Given the description of an element on the screen output the (x, y) to click on. 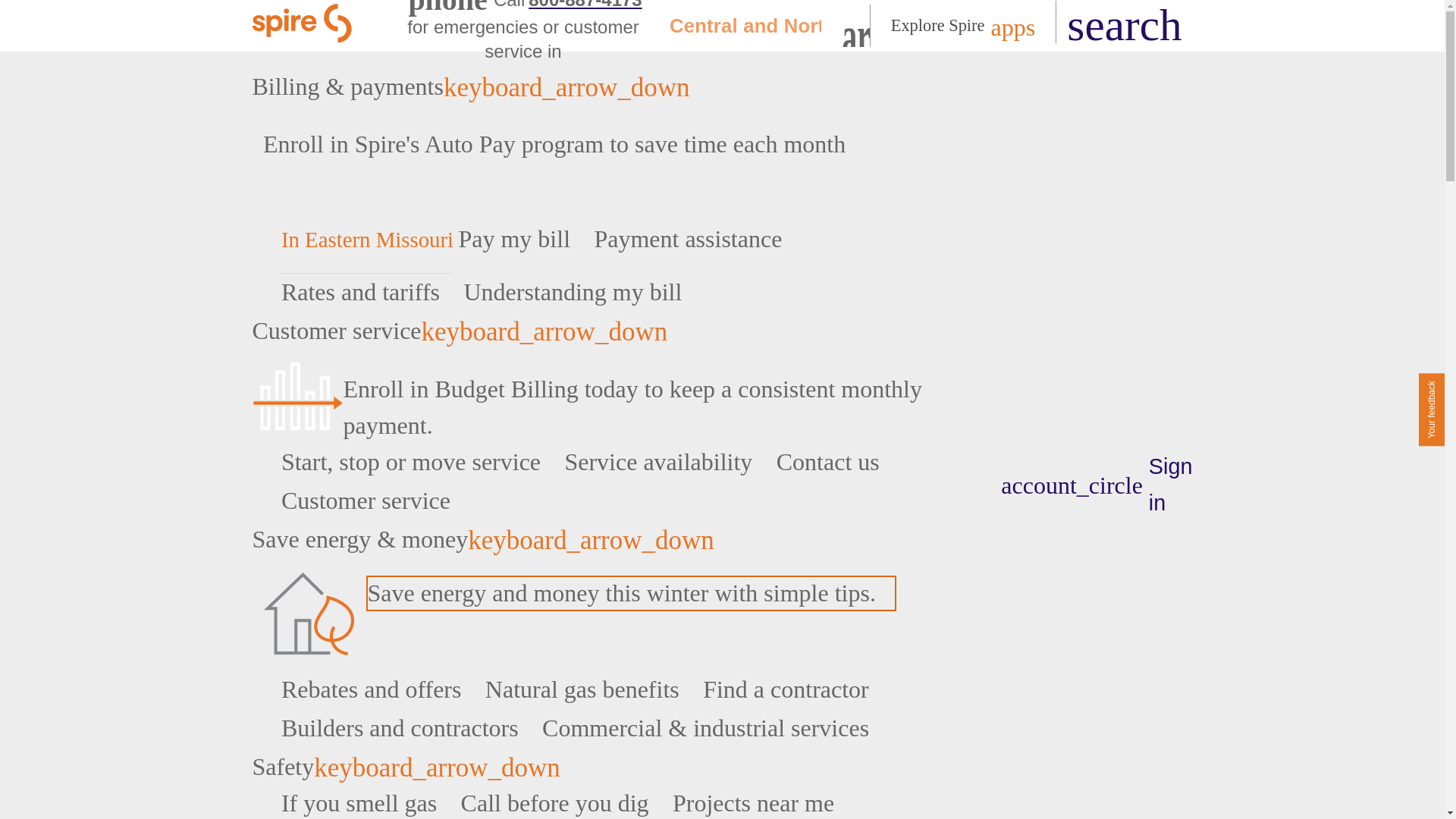
Spire (303, 25)
Explore Spire (963, 26)
Spire Energy Logo (303, 23)
Understanding my bill (581, 291)
Pay my bill (523, 238)
Enroll in Spire's Auto Pay program to save time each month (563, 144)
Rates and tariffs (369, 291)
Spire Energy Logo (303, 25)
Call 800-887-4173 for emergencies or customer service in (524, 31)
Payment assistance (697, 238)
Customer service (607, 330)
